Given the description of an element on the screen output the (x, y) to click on. 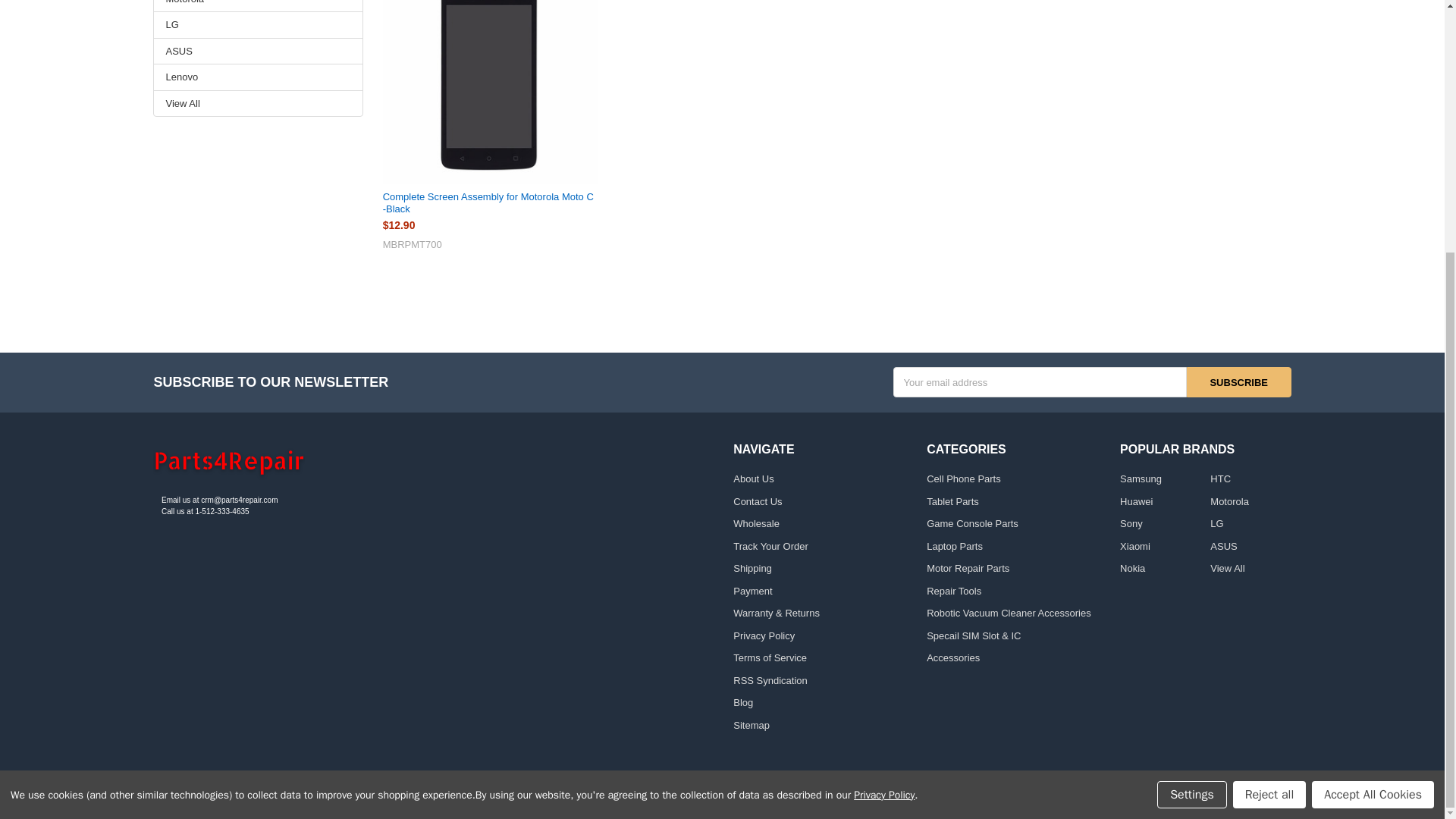
Subscribe (1238, 381)
ASUS (257, 51)
LG (257, 24)
Motorola (257, 3)
Lenovo (257, 77)
